Given the description of an element on the screen output the (x, y) to click on. 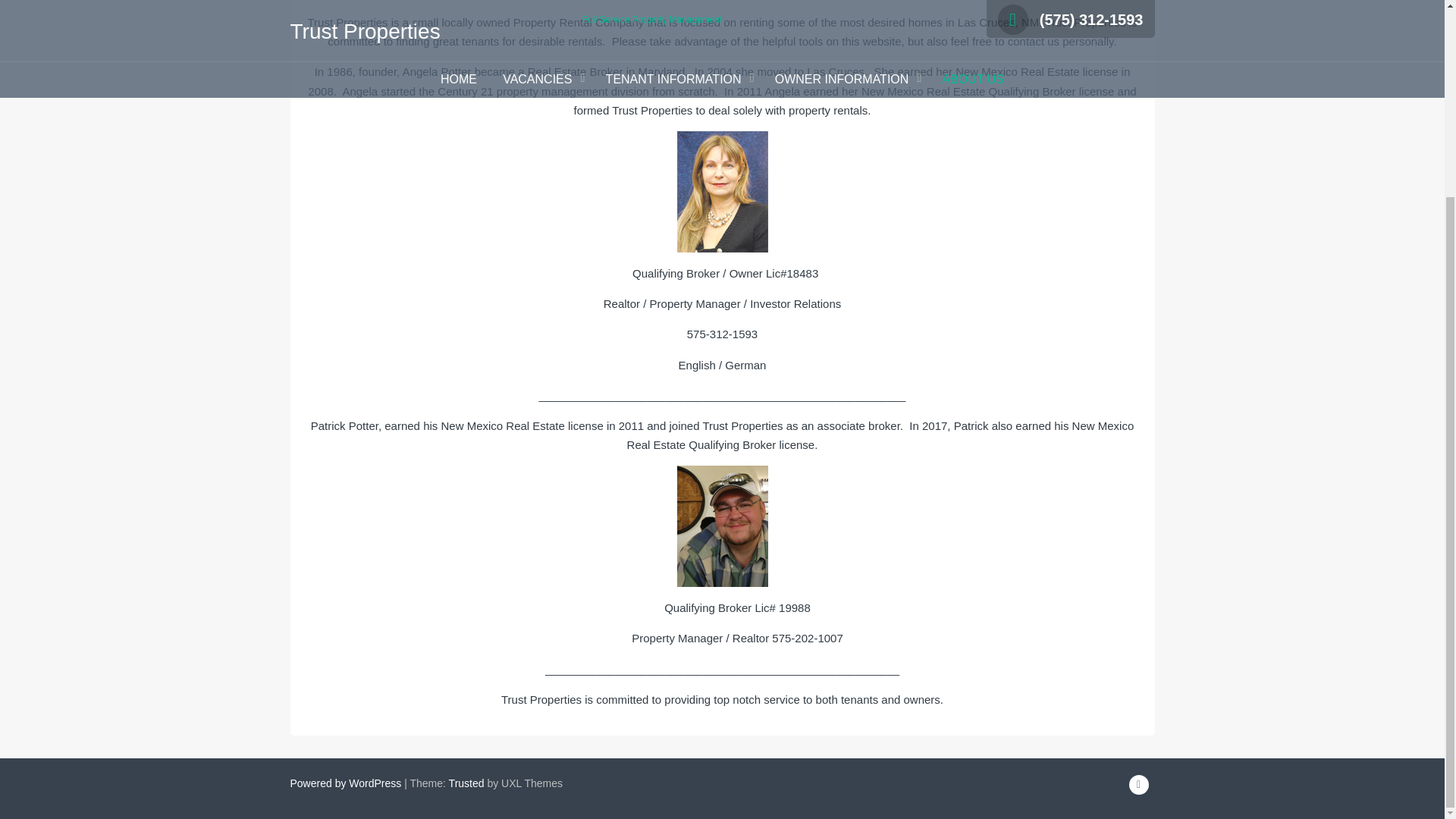
Powered by WordPress (345, 783)
Trusted (466, 783)
Search (802, 84)
